Given the description of an element on the screen output the (x, y) to click on. 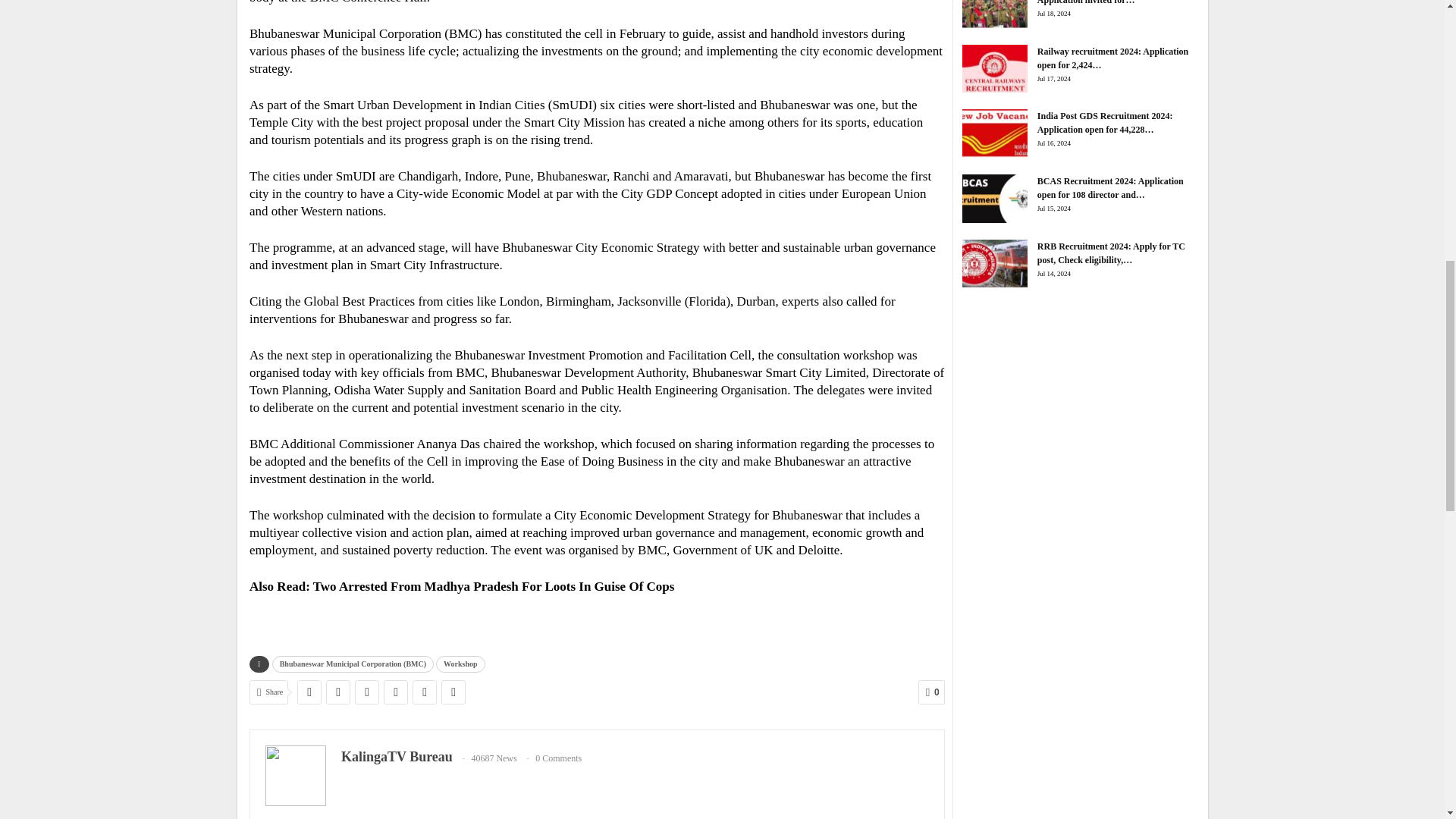
Workshop (459, 664)
0 (931, 692)
